Given the description of an element on the screen output the (x, y) to click on. 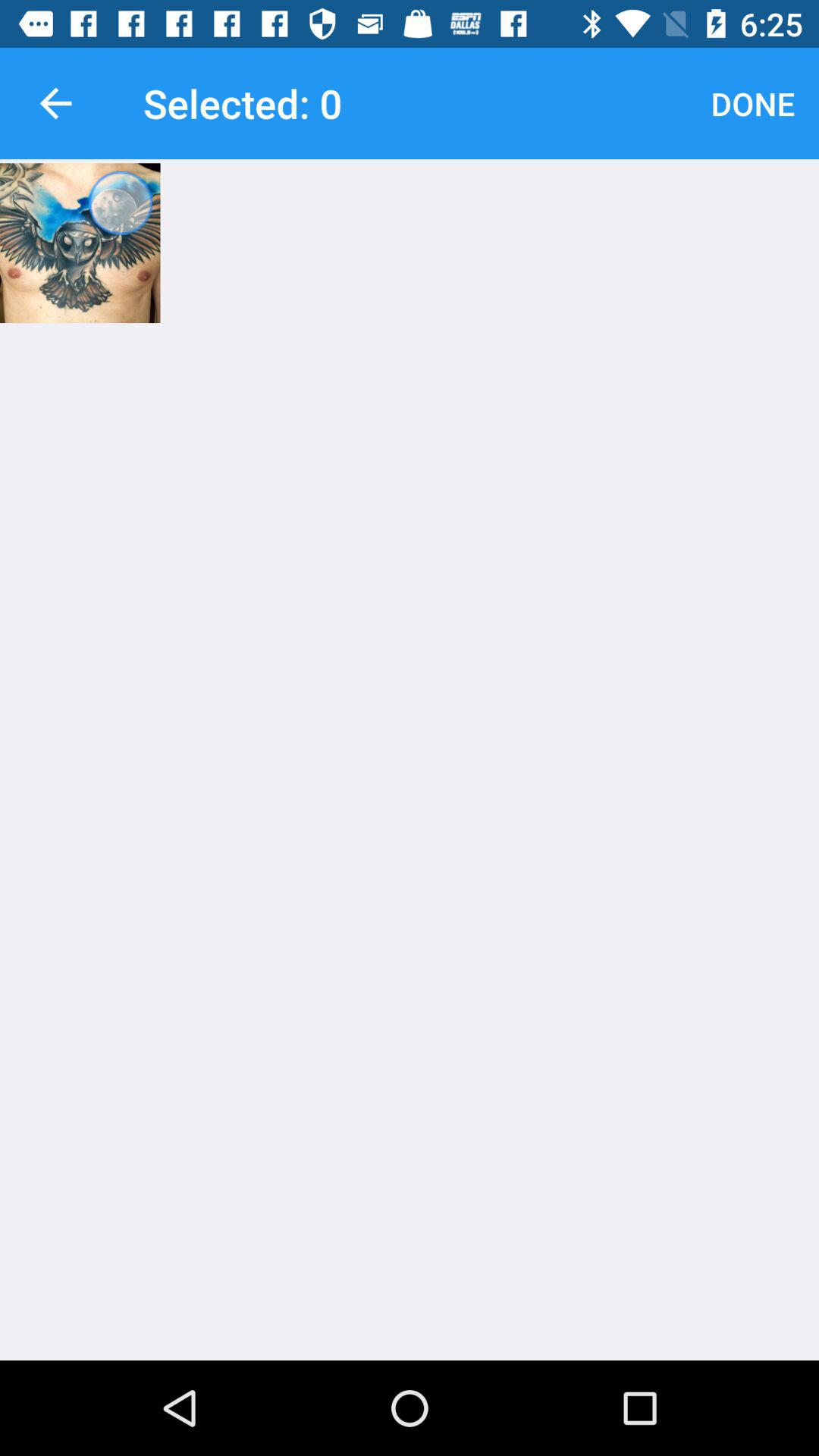
open icon next to the selected: 0 item (55, 103)
